Given the description of an element on the screen output the (x, y) to click on. 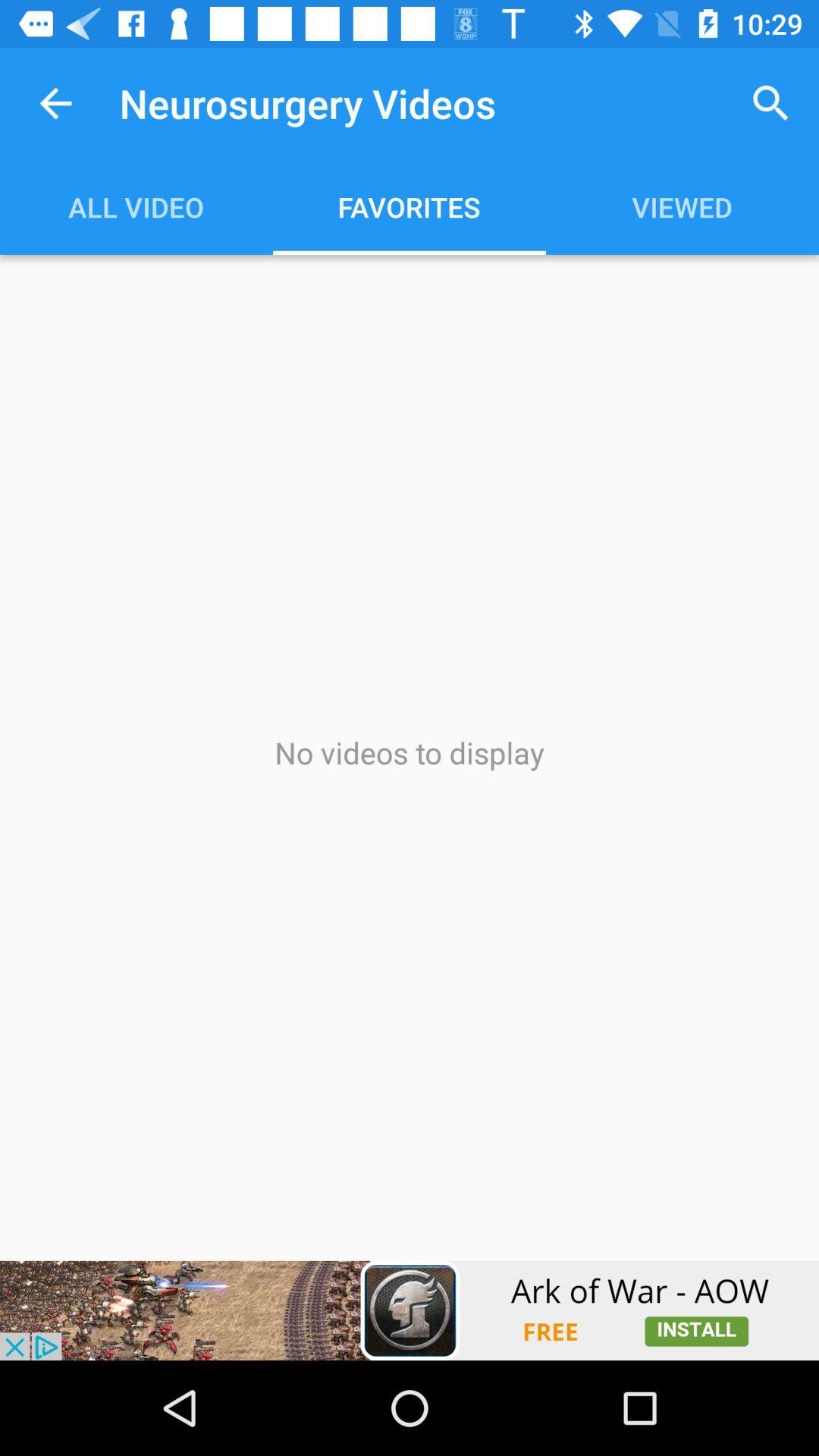
try this app (409, 1310)
